Given the description of an element on the screen output the (x, y) to click on. 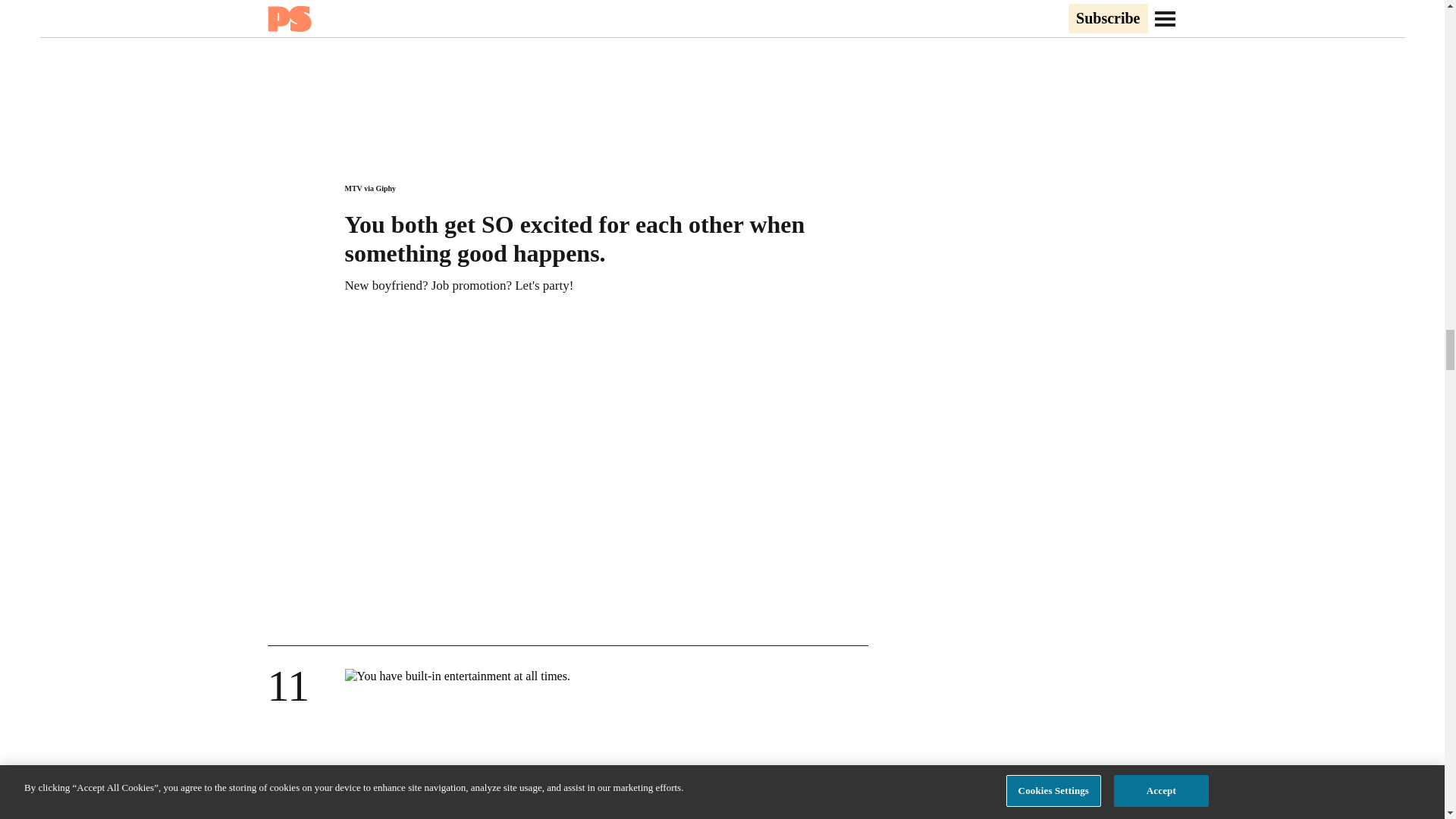
MTV via Giphy (369, 188)
